Given the description of an element on the screen output the (x, y) to click on. 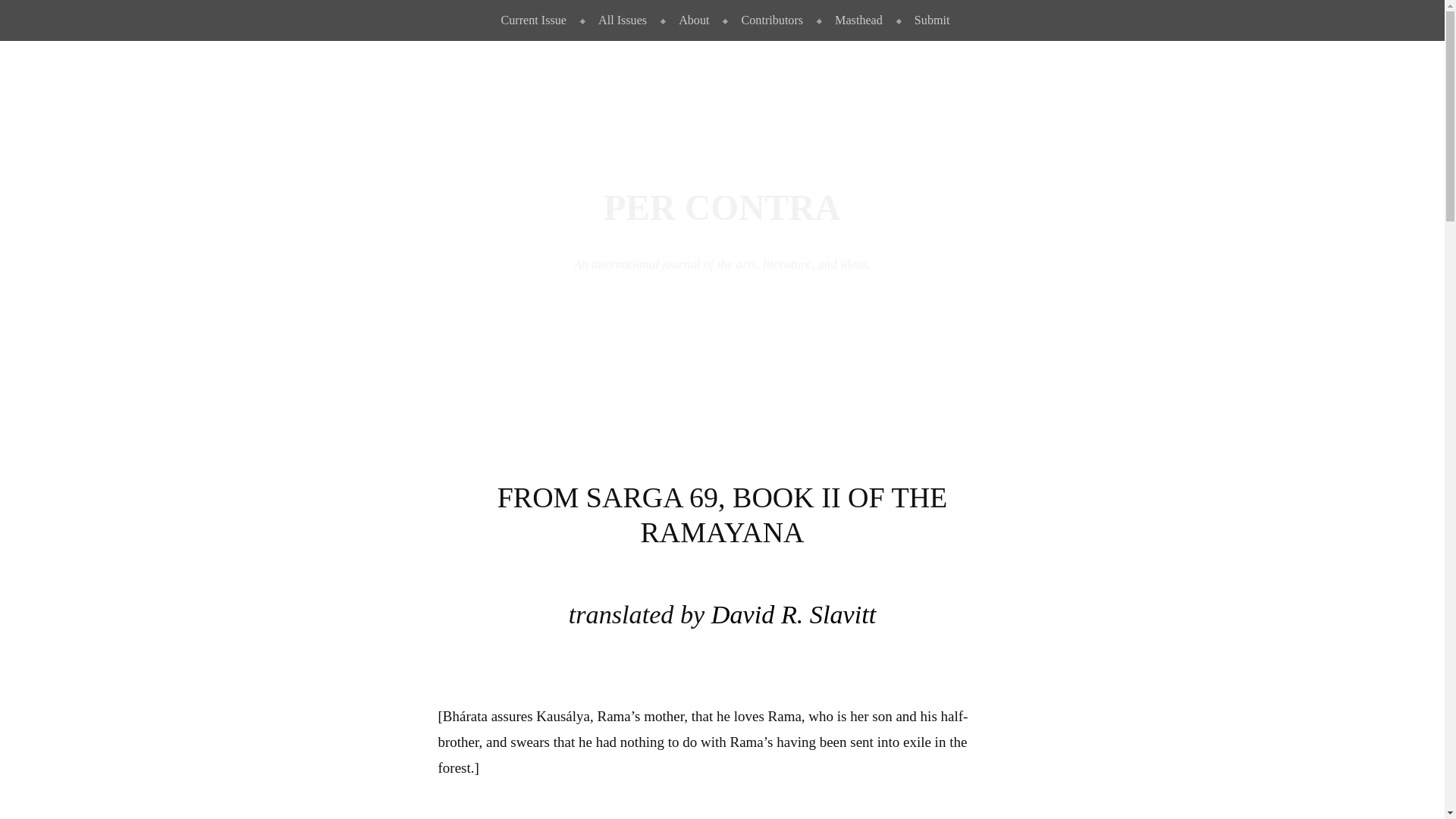
David R. Slavitt (793, 614)
Submit (928, 20)
Skip to content (37, 11)
Current Issue (530, 20)
Masthead (855, 20)
About (690, 20)
Per Contra (722, 207)
Contributors (768, 20)
All Issues (619, 20)
Skip to content (37, 11)
